Given the description of an element on the screen output the (x, y) to click on. 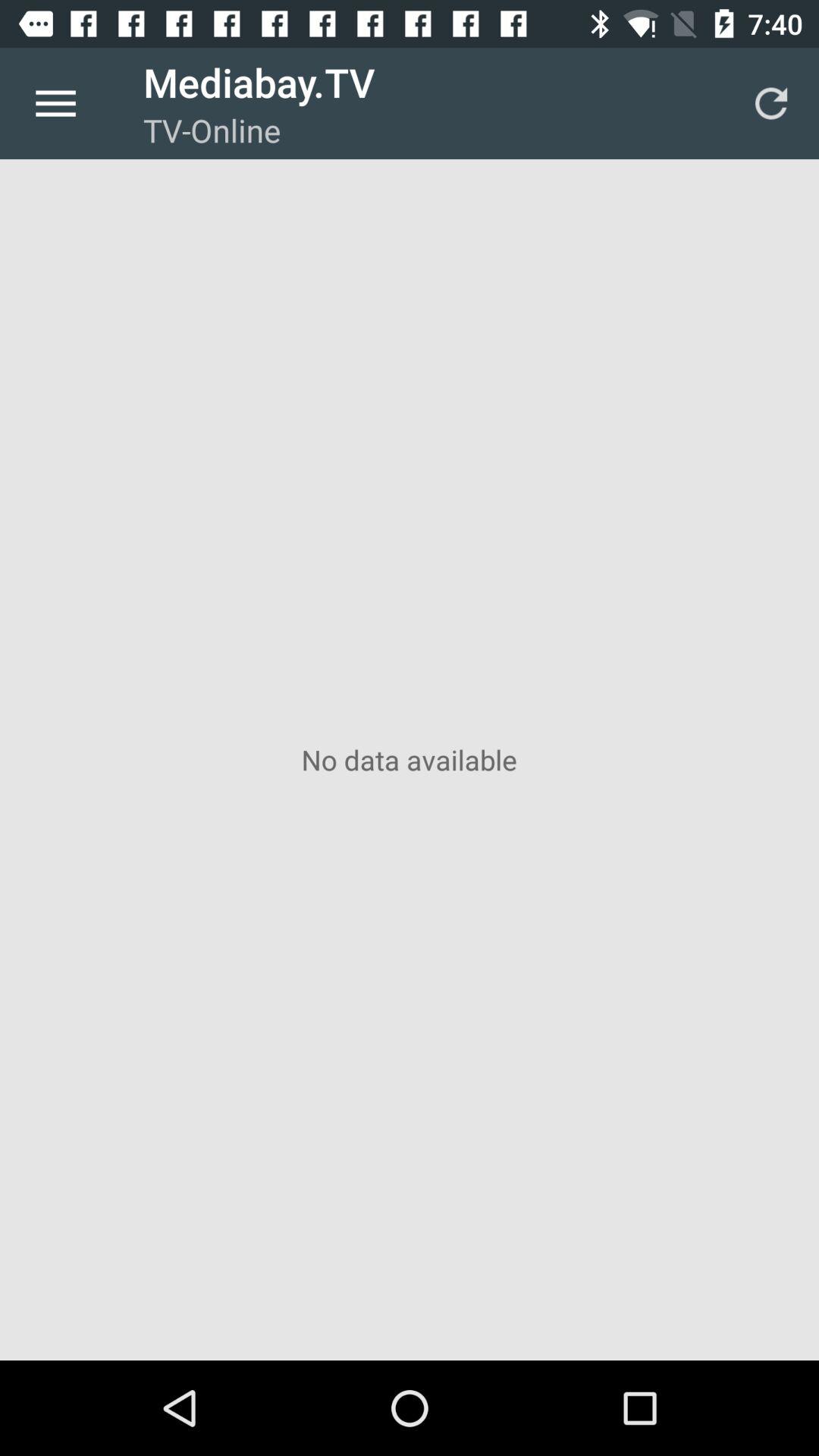
press item next to the mediabay.tv (771, 103)
